Given the description of an element on the screen output the (x, y) to click on. 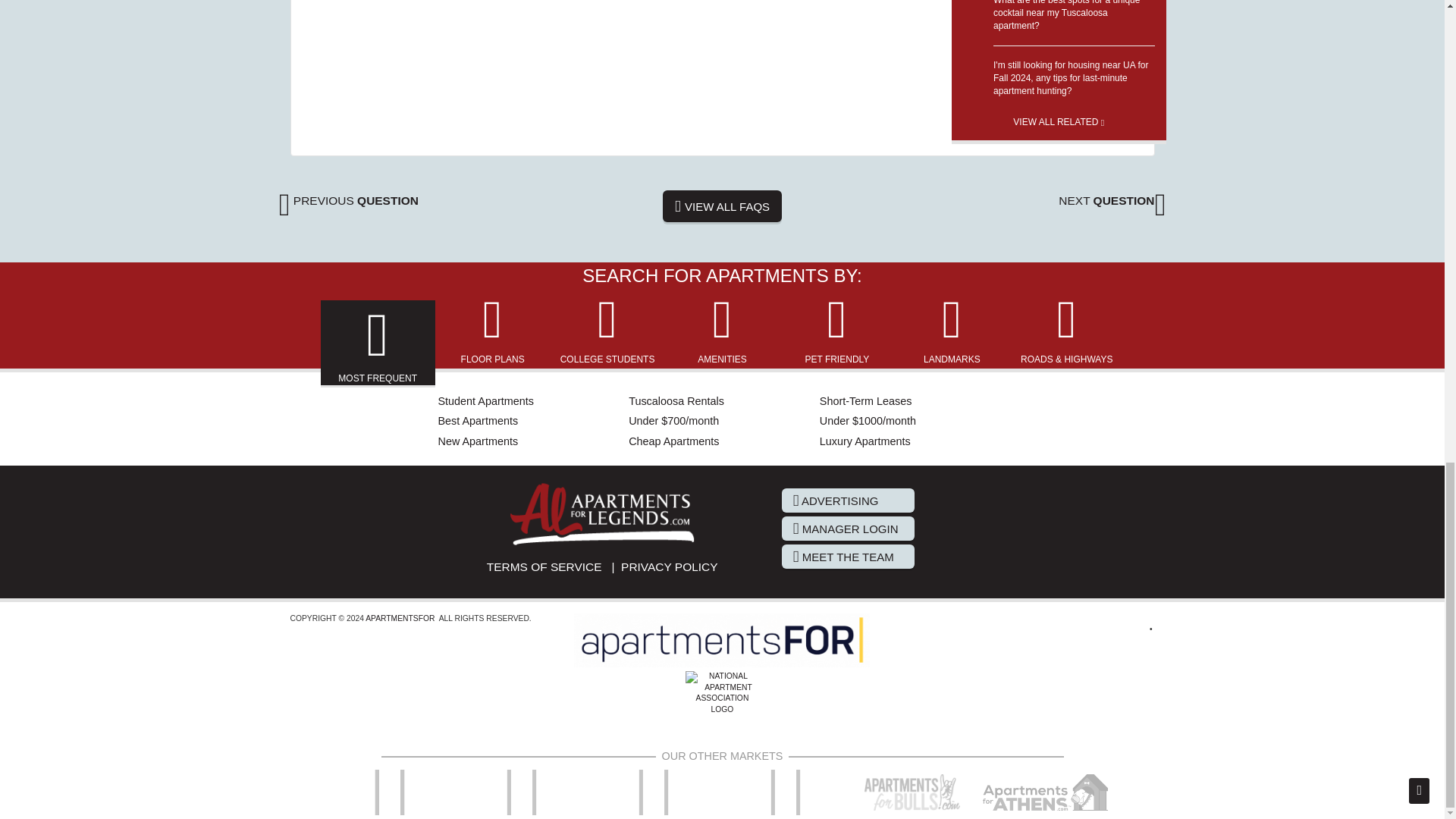
MOST FREQUENT (377, 343)
VIEW ALL RELATED  (1058, 116)
Terms of Service (544, 566)
Privacy Policy (669, 566)
 PREVIOUS QUESTION (349, 200)
LANDMARKS (951, 329)
Gainesville, FL Apartments (523, 791)
NEXT QUESTION (1112, 200)
PET FRIENDLY (837, 329)
National Apartment Association (721, 707)
ApartmentsFor.com (399, 618)
COLLEGE STUDENTS (607, 329)
Orlando, FL Apartments (390, 791)
